Given the description of an element on the screen output the (x, y) to click on. 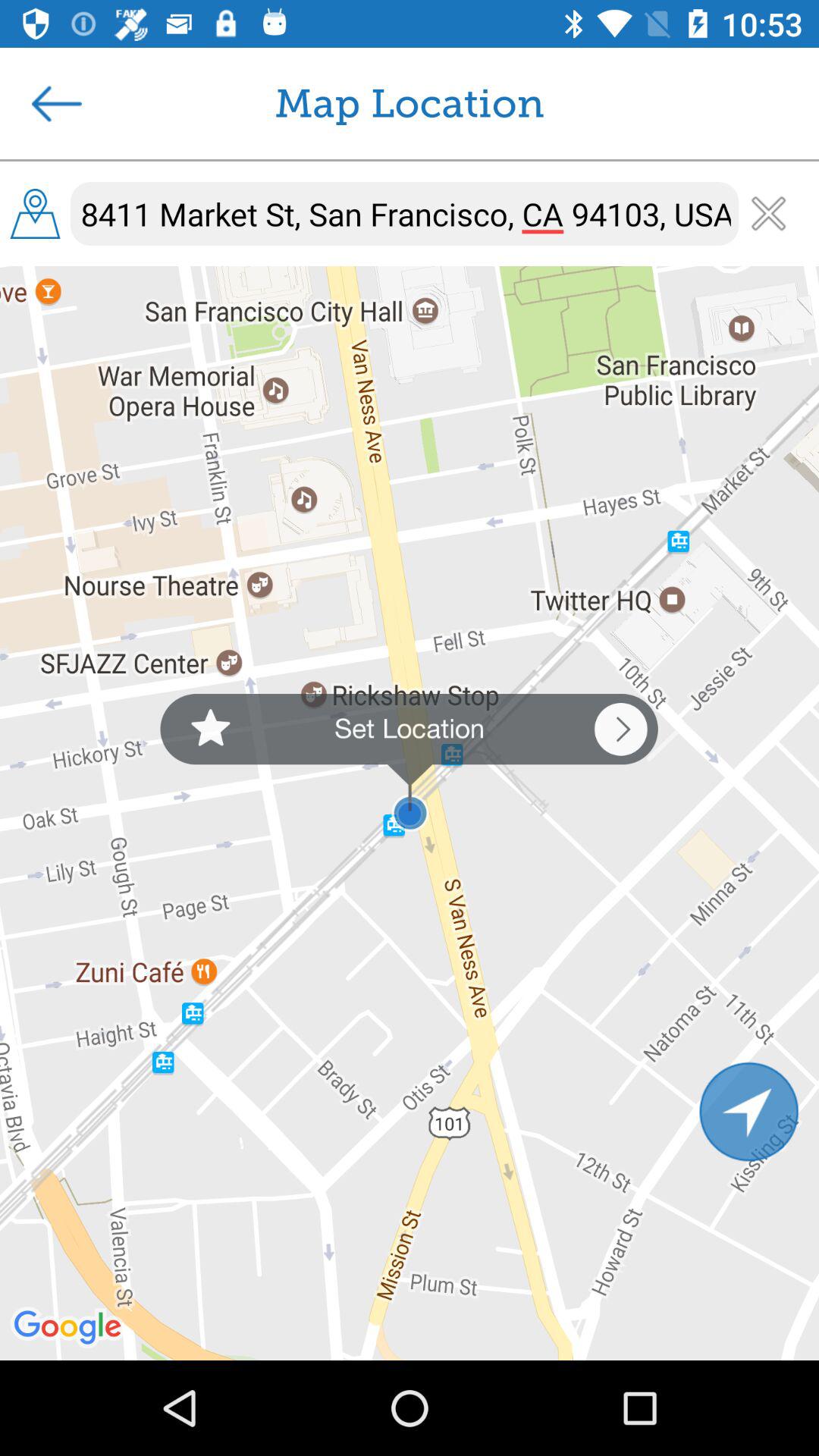
press icon to the left of map location (56, 103)
